Given the description of an element on the screen output the (x, y) to click on. 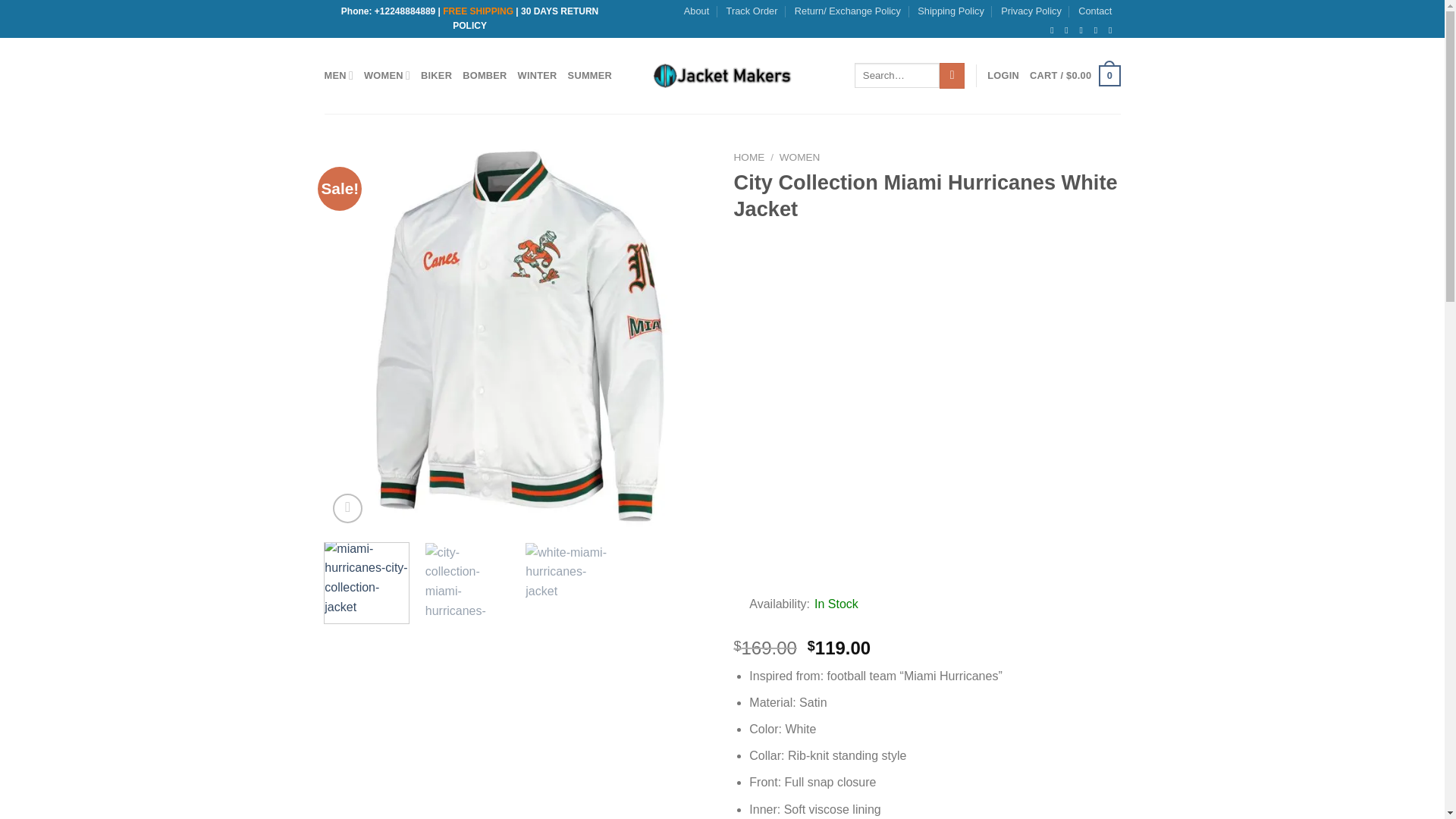
Contact (1095, 11)
Shipping Policy (950, 11)
MEN (338, 75)
About (696, 11)
Track Order (751, 11)
Cart (1074, 75)
Zoom (347, 508)
Privacy Policy (1031, 11)
